Given the description of an element on the screen output the (x, y) to click on. 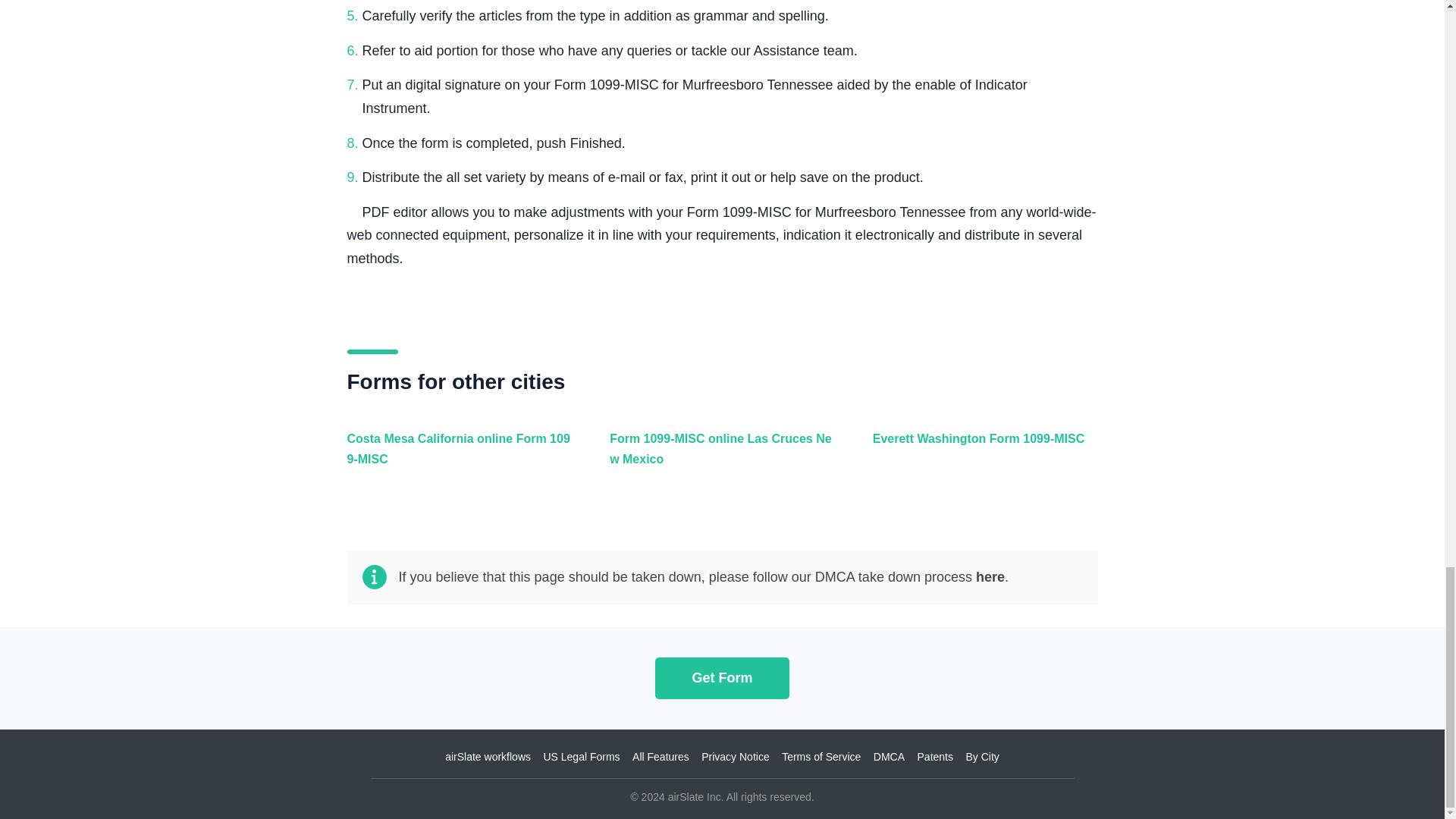
DMCA (888, 756)
Costa Mesa California online Form 1099-MISC (456, 456)
here (989, 576)
airSlate workflows (488, 756)
Get Form (722, 677)
Privacy Notice (734, 756)
All Features (659, 756)
Form 1099-MISC online Las Cruces New Mexico (718, 456)
By City (981, 756)
Terms of Service (820, 756)
